Given the description of an element on the screen output the (x, y) to click on. 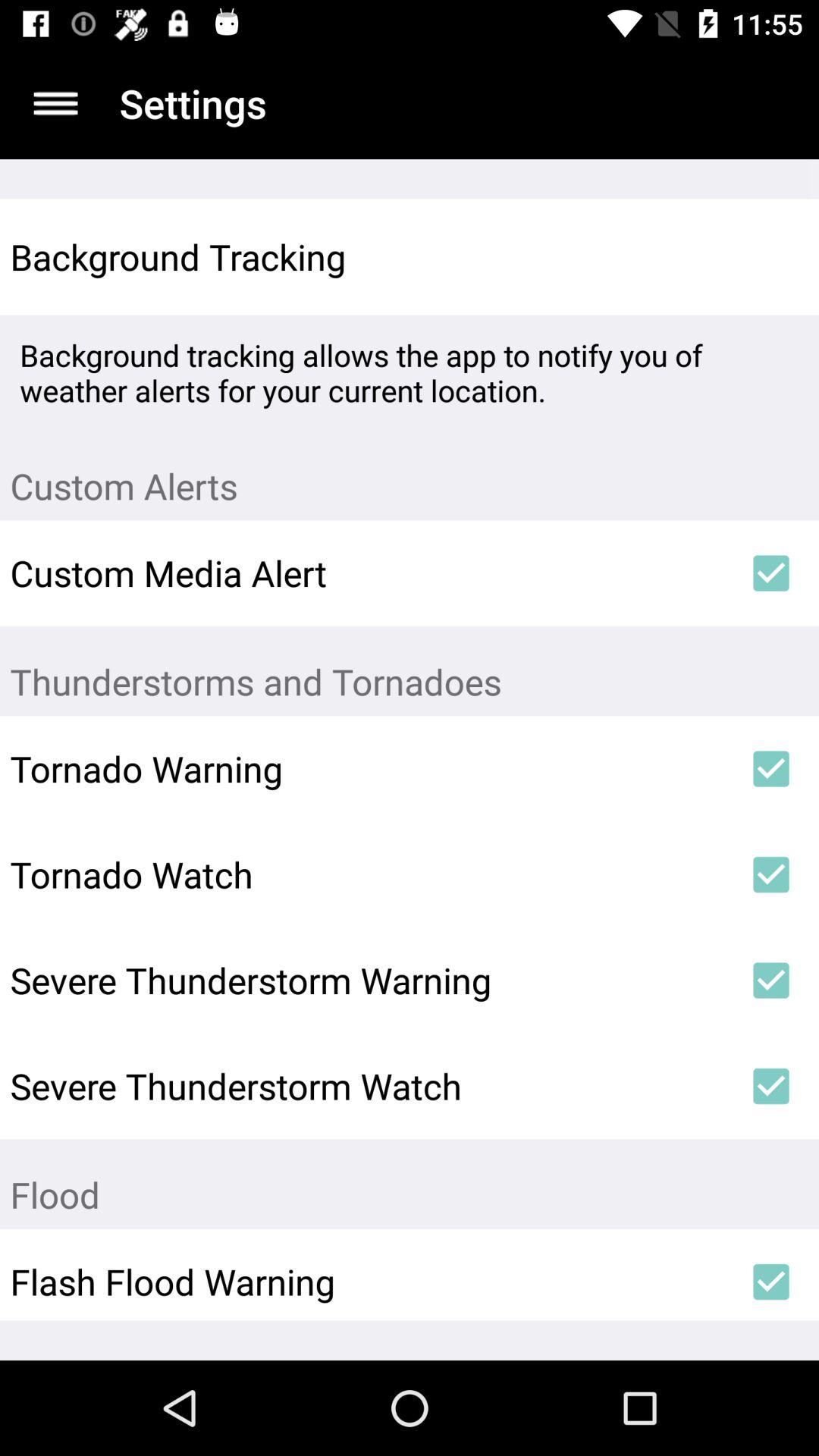
go to sidebar (55, 103)
